Given the description of an element on the screen output the (x, y) to click on. 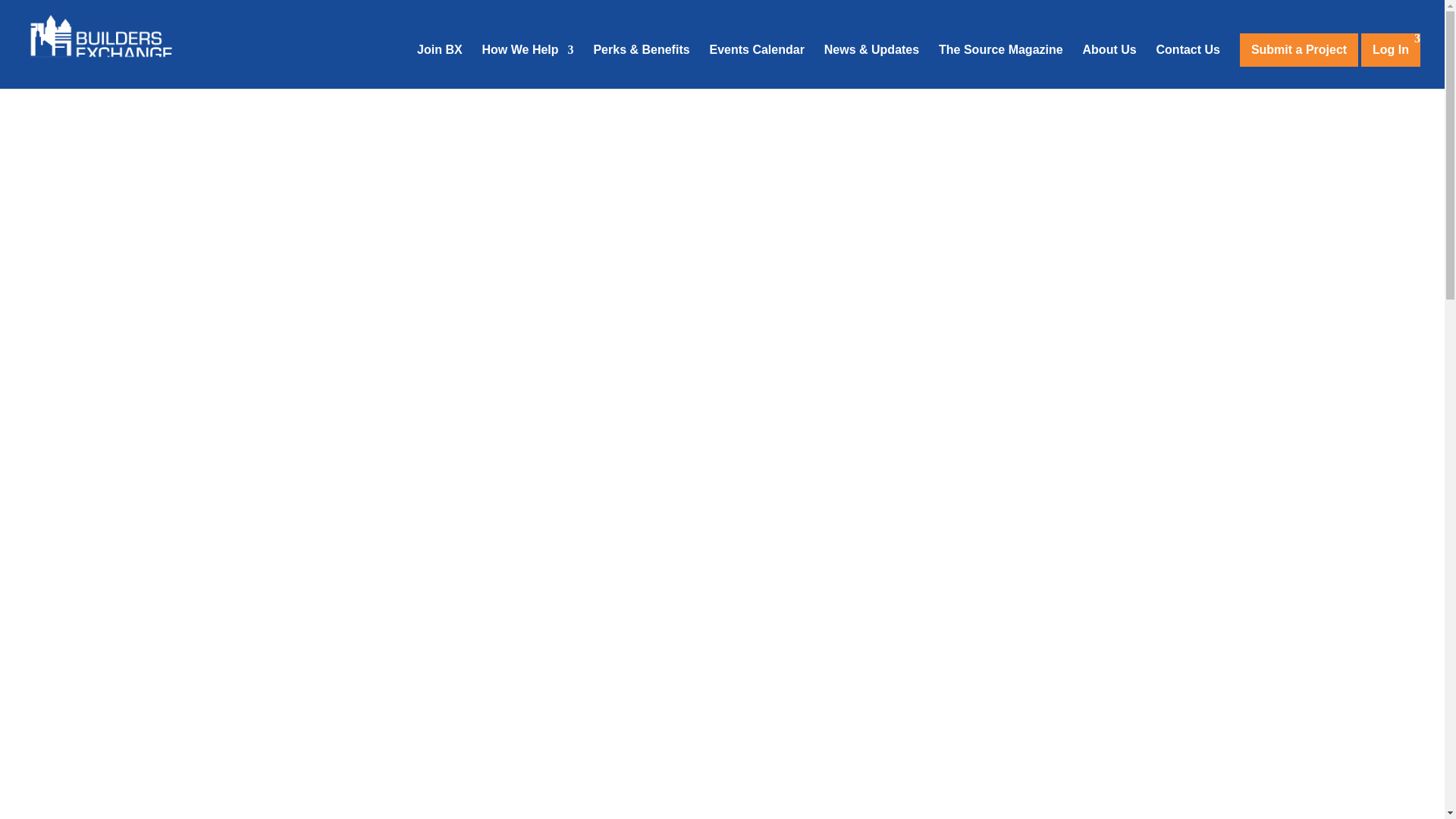
Log In (1391, 49)
The Source Magazine (1000, 66)
Join BX (439, 66)
Events Calendar (757, 66)
About Us (1110, 66)
Contact Us (1188, 66)
How We Help (527, 66)
Submit a Project (1299, 49)
